Given the description of an element on the screen output the (x, y) to click on. 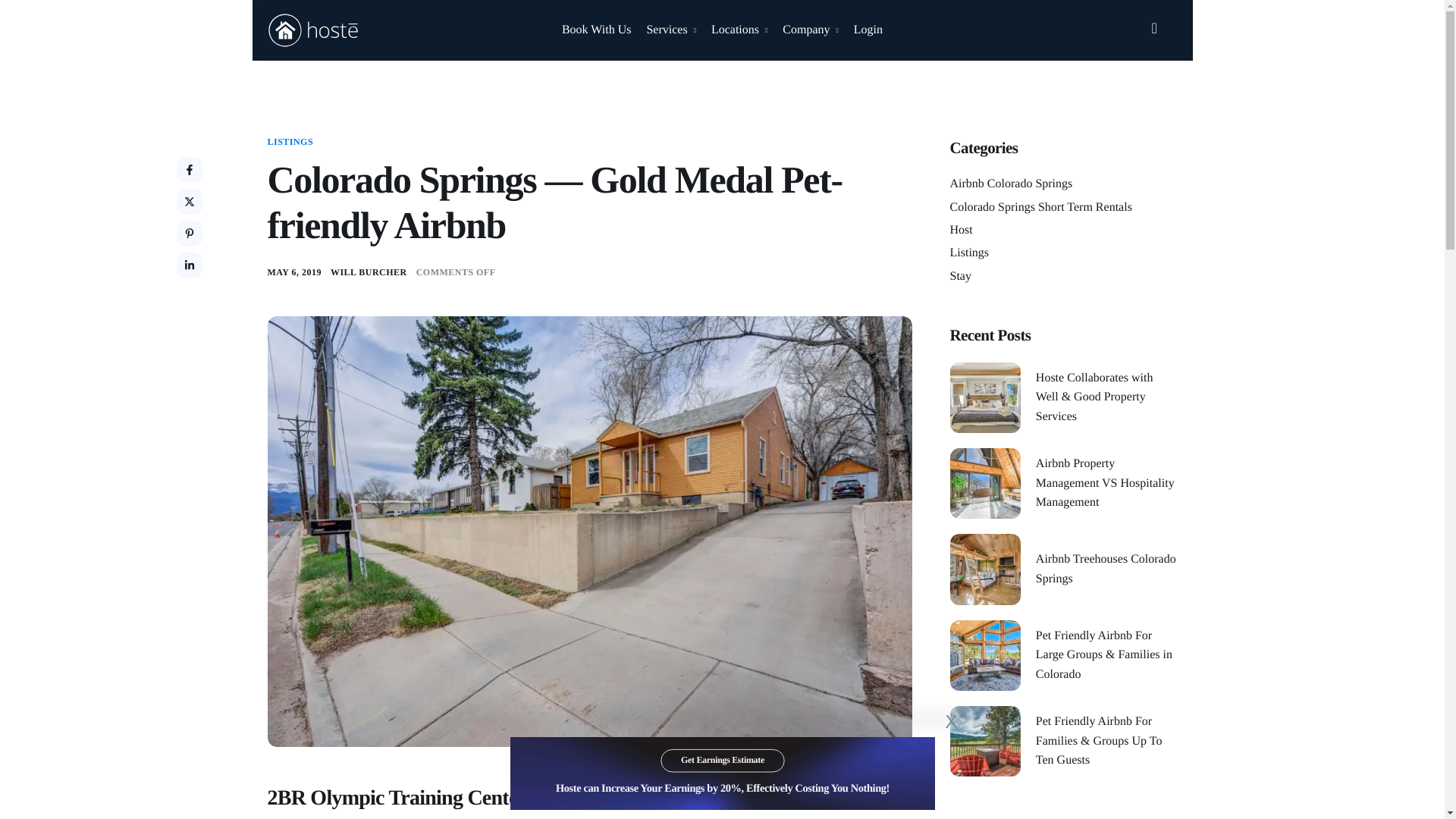
Share on X (189, 201)
Locations (739, 30)
Share on LinkedIn (189, 265)
Share on Facebook (189, 169)
Posts by Will Burcher (368, 271)
Share on Pinterest (189, 233)
Login (867, 30)
Company (810, 30)
Services (670, 30)
Book With Us (596, 30)
